Given the description of an element on the screen output the (x, y) to click on. 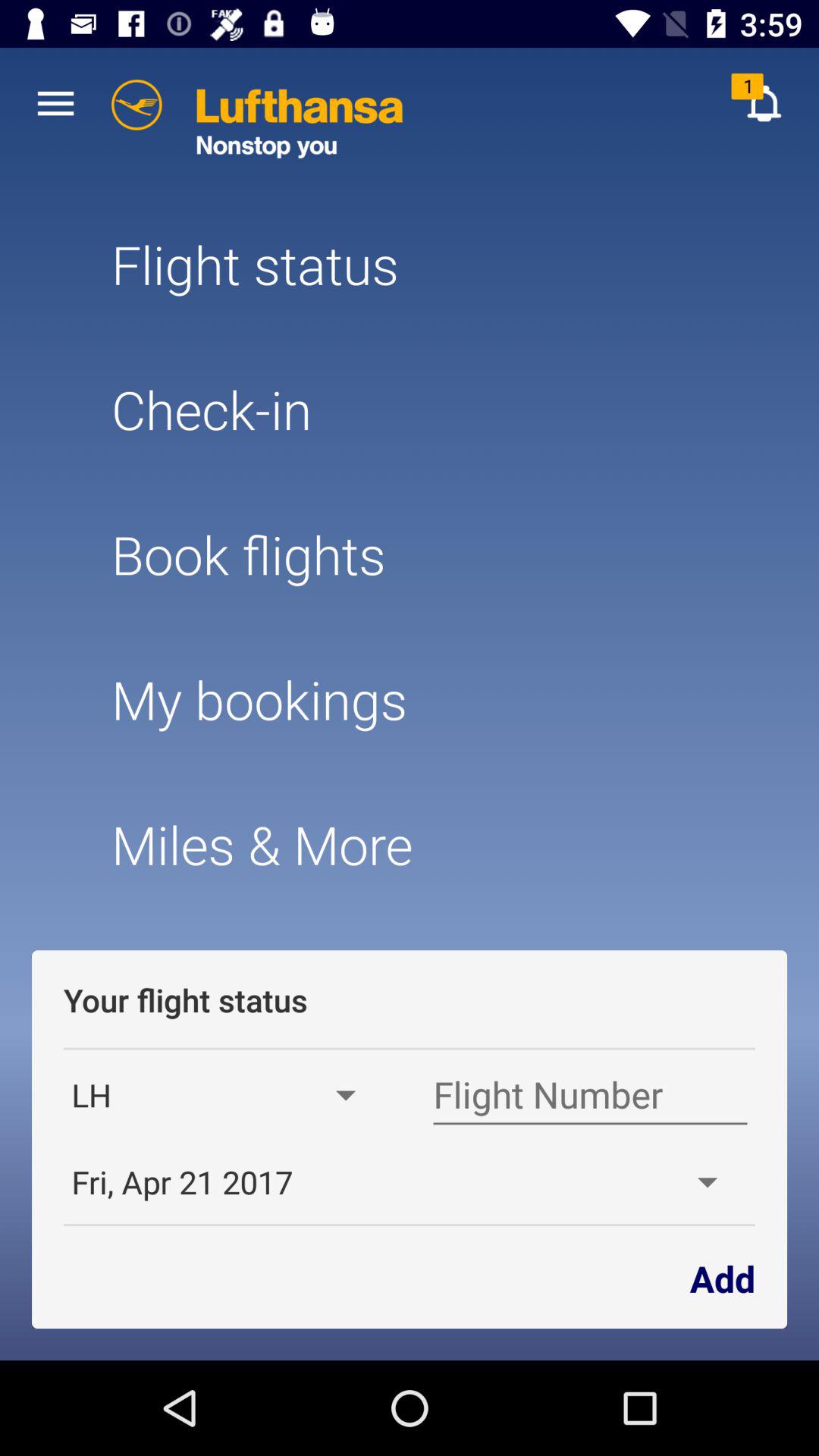
launch app next to the fri apr 21 (722, 1277)
